Given the description of an element on the screen output the (x, y) to click on. 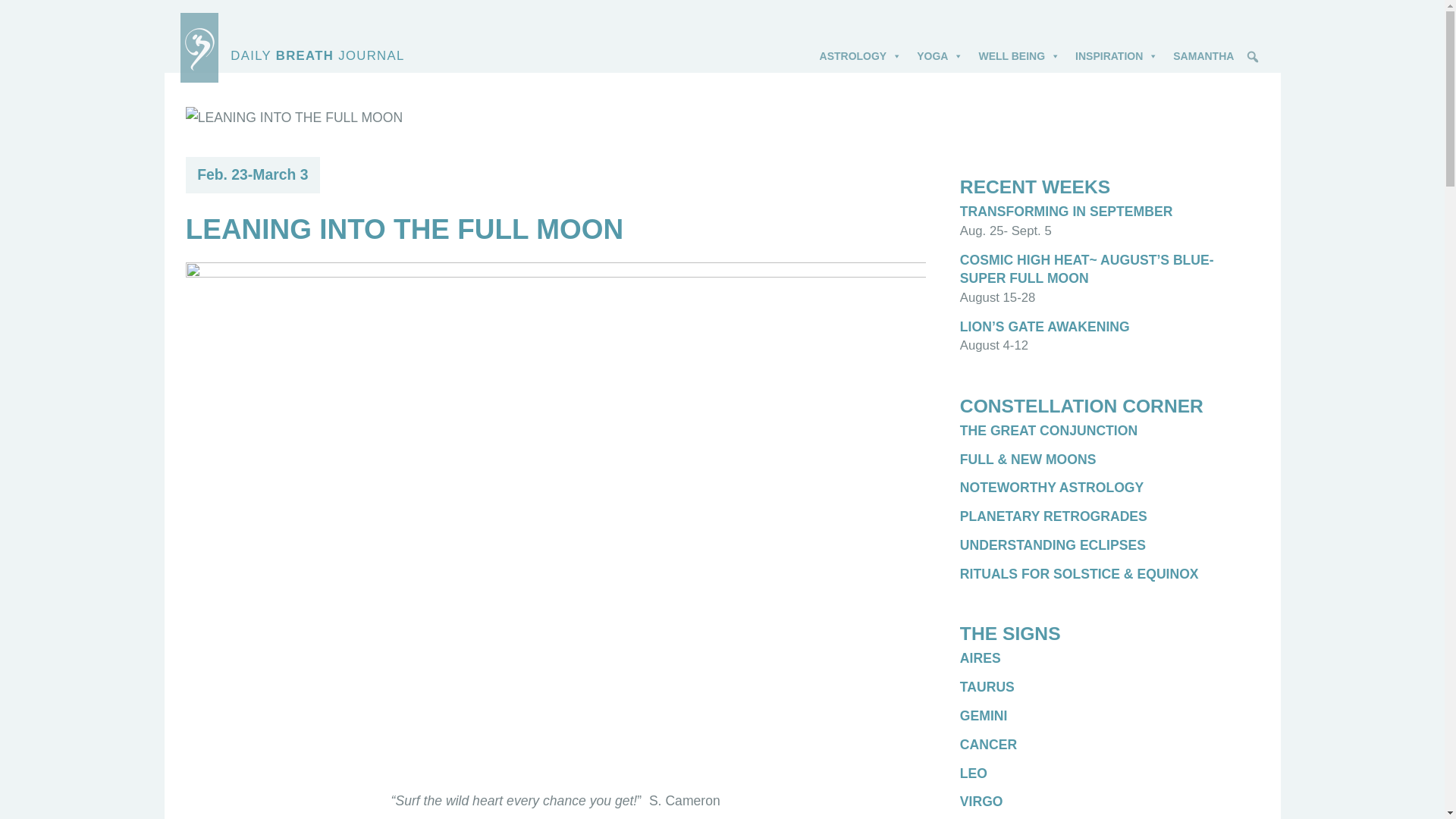
YOGA (939, 46)
ASTROLOGY (861, 46)
DAILY BREATH JOURNAL (722, 47)
TRANSFORMING IN SEPTEMBER (1066, 211)
